Given the description of an element on the screen output the (x, y) to click on. 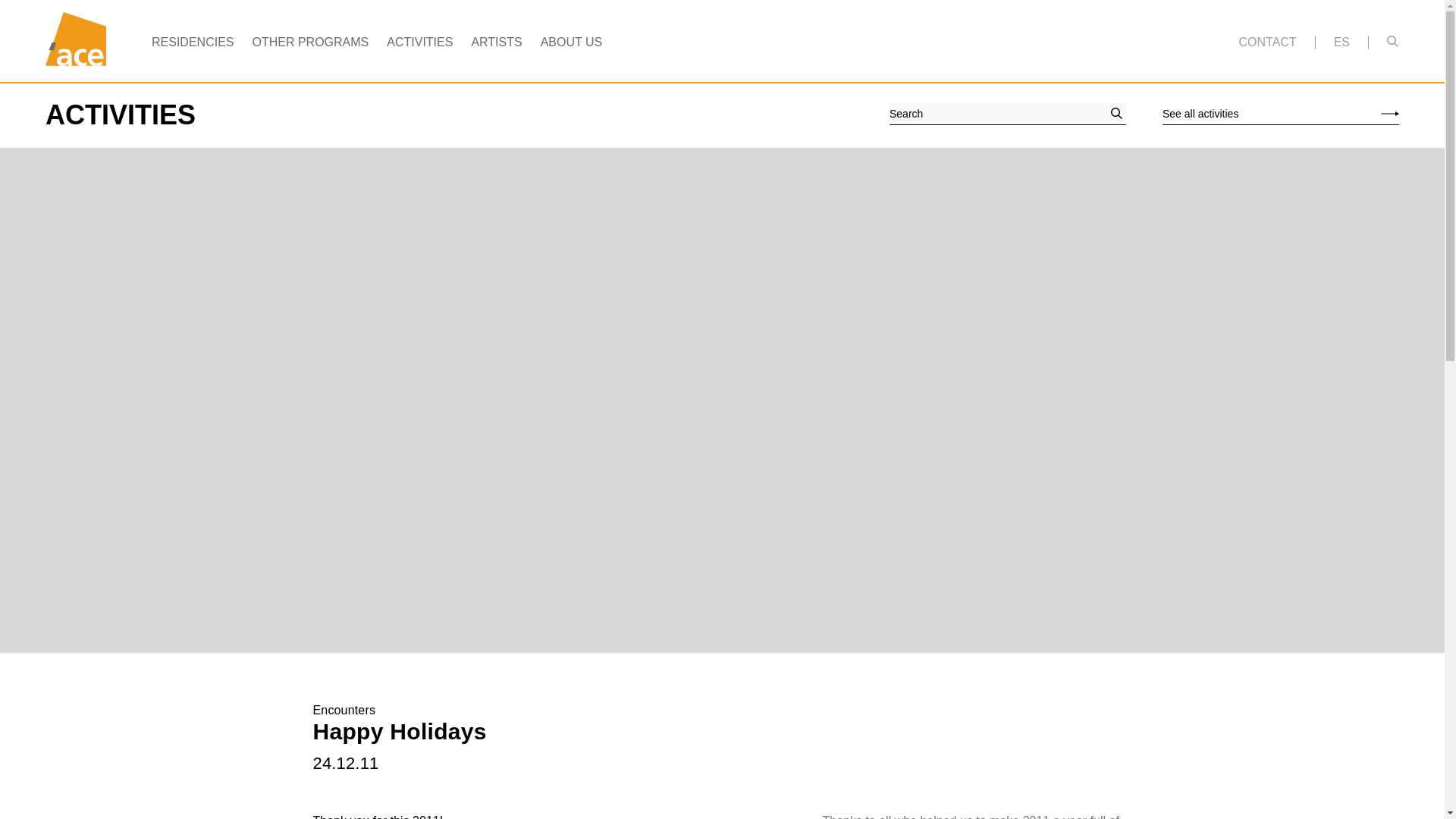
ACTIVITIES (419, 42)
CONTACT (1268, 42)
ARTISTS (495, 42)
ABOUT US (571, 42)
See all activities (1280, 114)
ES (1341, 42)
OTHER PROGRAMS (309, 42)
RESIDENCIES (191, 42)
